Given the description of an element on the screen output the (x, y) to click on. 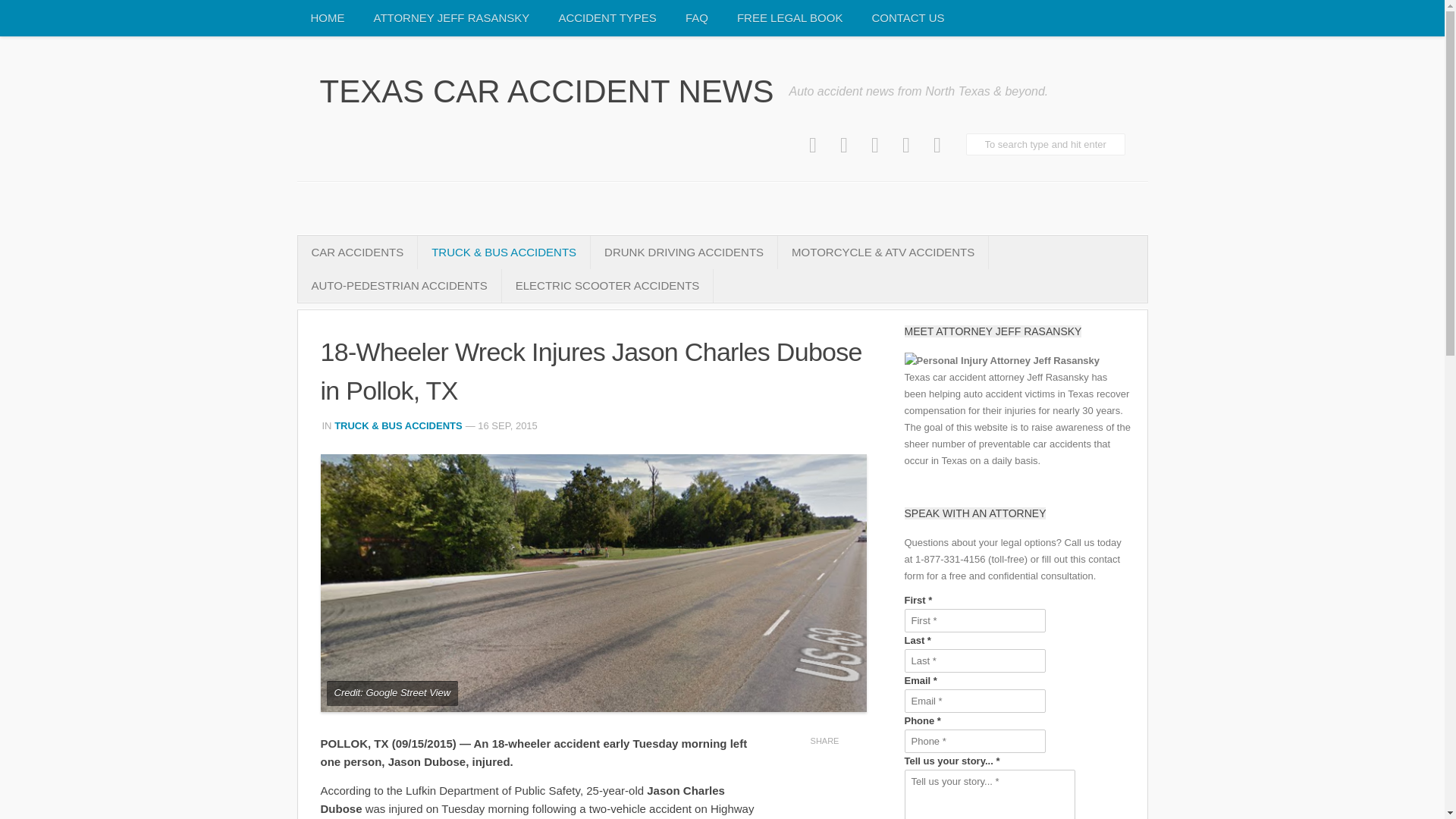
AUTO-PEDESTRIAN ACCIDENTS (398, 285)
CONTACT US (907, 18)
ATTORNEY JEFF RASANSKY (451, 18)
ACCIDENT TYPES (606, 18)
DRUNK DRIVING ACCIDENTS (684, 252)
TEXAS CAR ACCIDENT NEWS (547, 91)
To search type and hit enter (1045, 144)
Twitter (844, 145)
Feed (936, 145)
FREE LEGAL BOOK (790, 18)
